Given the description of an element on the screen output the (x, y) to click on. 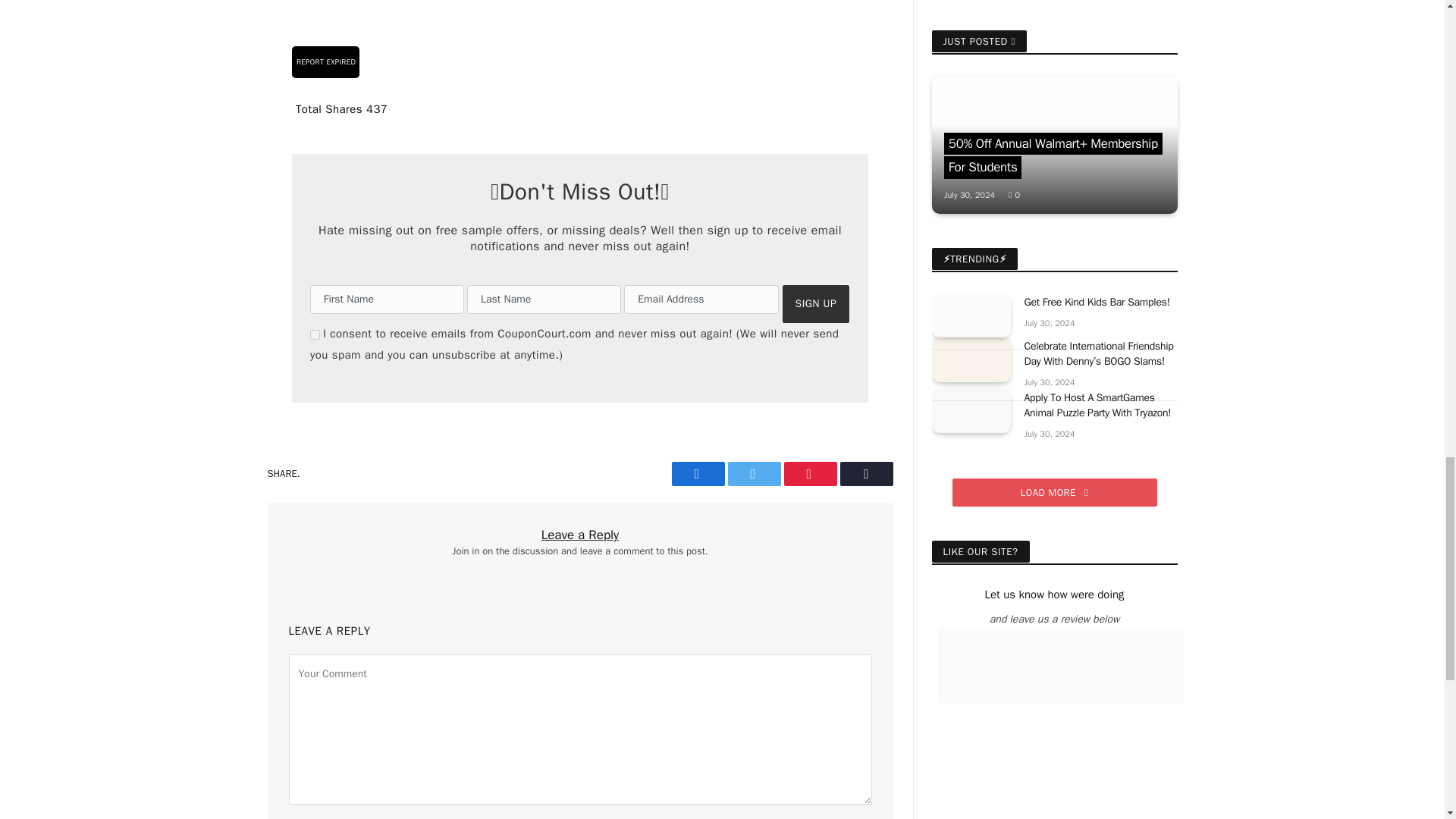
SIGN UP (815, 304)
1 (315, 334)
